Given the description of an element on the screen output the (x, y) to click on. 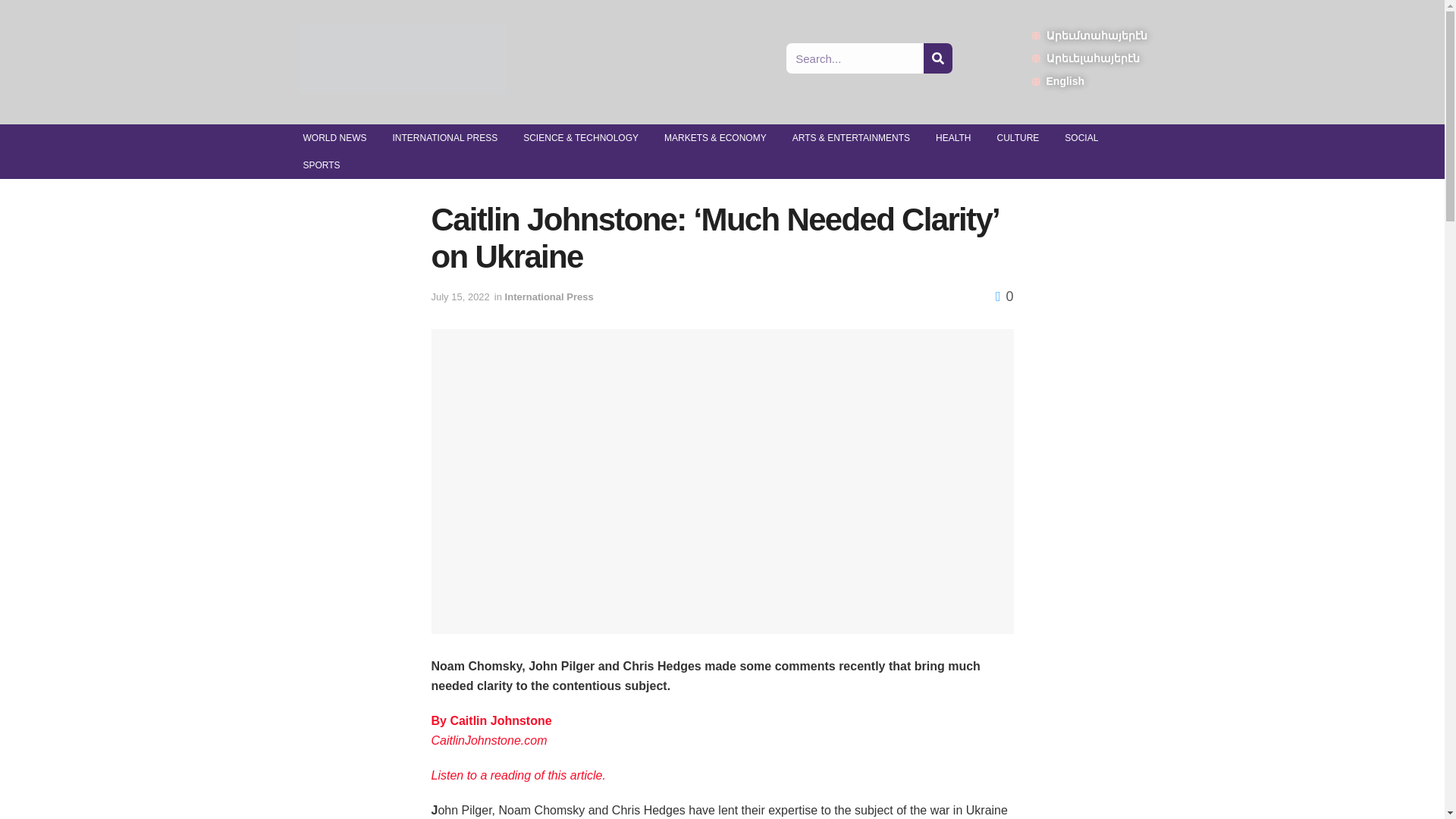
INTERNATIONAL PRESS (444, 137)
English (1088, 80)
CULTURE (1018, 137)
HEALTH (953, 137)
July 15, 2022 (459, 296)
SOCIAL (1080, 137)
SPORTS (320, 165)
WORLD NEWS (333, 137)
By Caitlin Johnstone (490, 720)
International Press (549, 296)
0 (1004, 296)
